Given the description of an element on the screen output the (x, y) to click on. 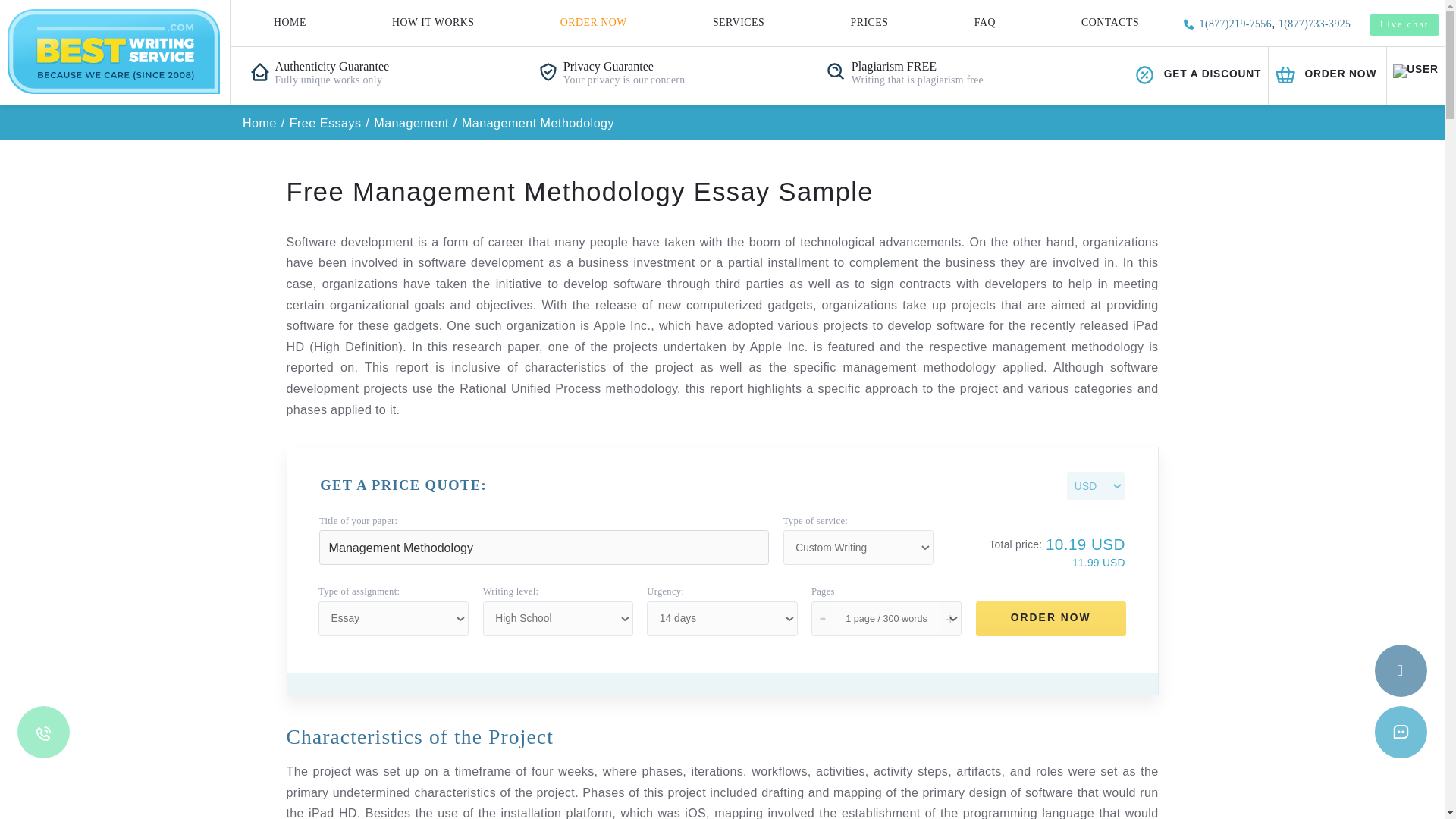
SERVICES (641, 19)
Login (1230, 65)
HOME (251, 19)
Logo (98, 44)
HOW IT WORKS (376, 19)
PRICES (755, 19)
Live Chat (1218, 636)
GET A DISCOUNT (1041, 65)
Discount program (1041, 65)
ORDER NOW (1152, 65)
Go up (1218, 583)
Live chat (1220, 21)
FAQ (856, 19)
Order now (1152, 65)
ORDER NOW (515, 19)
